Given the description of an element on the screen output the (x, y) to click on. 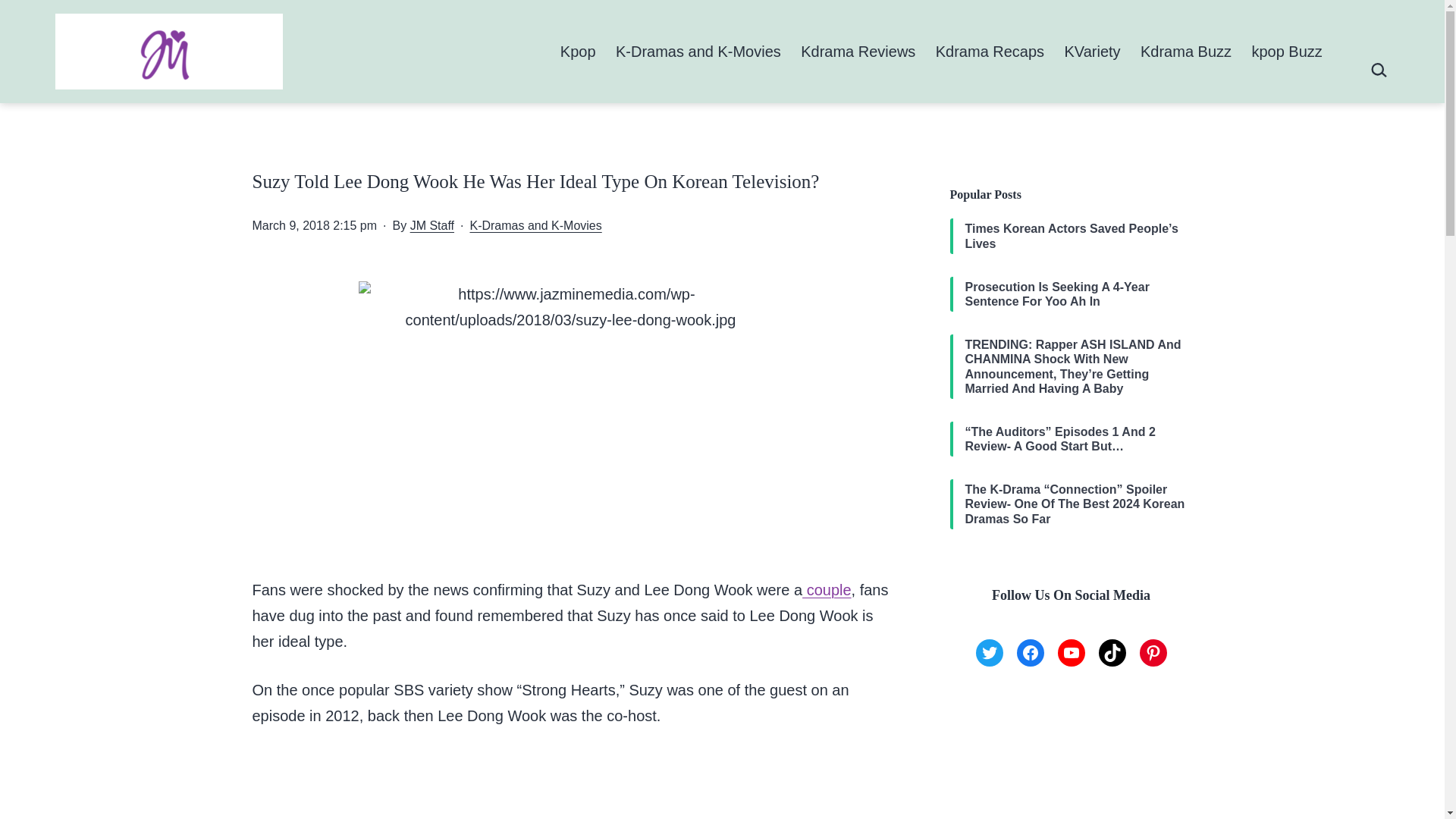
suzy lee dong wook (570, 400)
Kdrama Recaps (990, 50)
K-Dramas and K-Movies (534, 224)
Kpop (577, 50)
Twitter (989, 652)
JM Staff (432, 224)
Pinterest (1152, 652)
KVariety (1091, 50)
TikTok (1111, 652)
YouTube (1070, 652)
K-Dramas and K-Movies (697, 50)
Kdrama Buzz (1186, 50)
couple (826, 589)
Kdrama Reviews (858, 50)
Prosecution Is Seeking A 4-Year Sentence For Yoo Ah In (1077, 294)
